Given the description of an element on the screen output the (x, y) to click on. 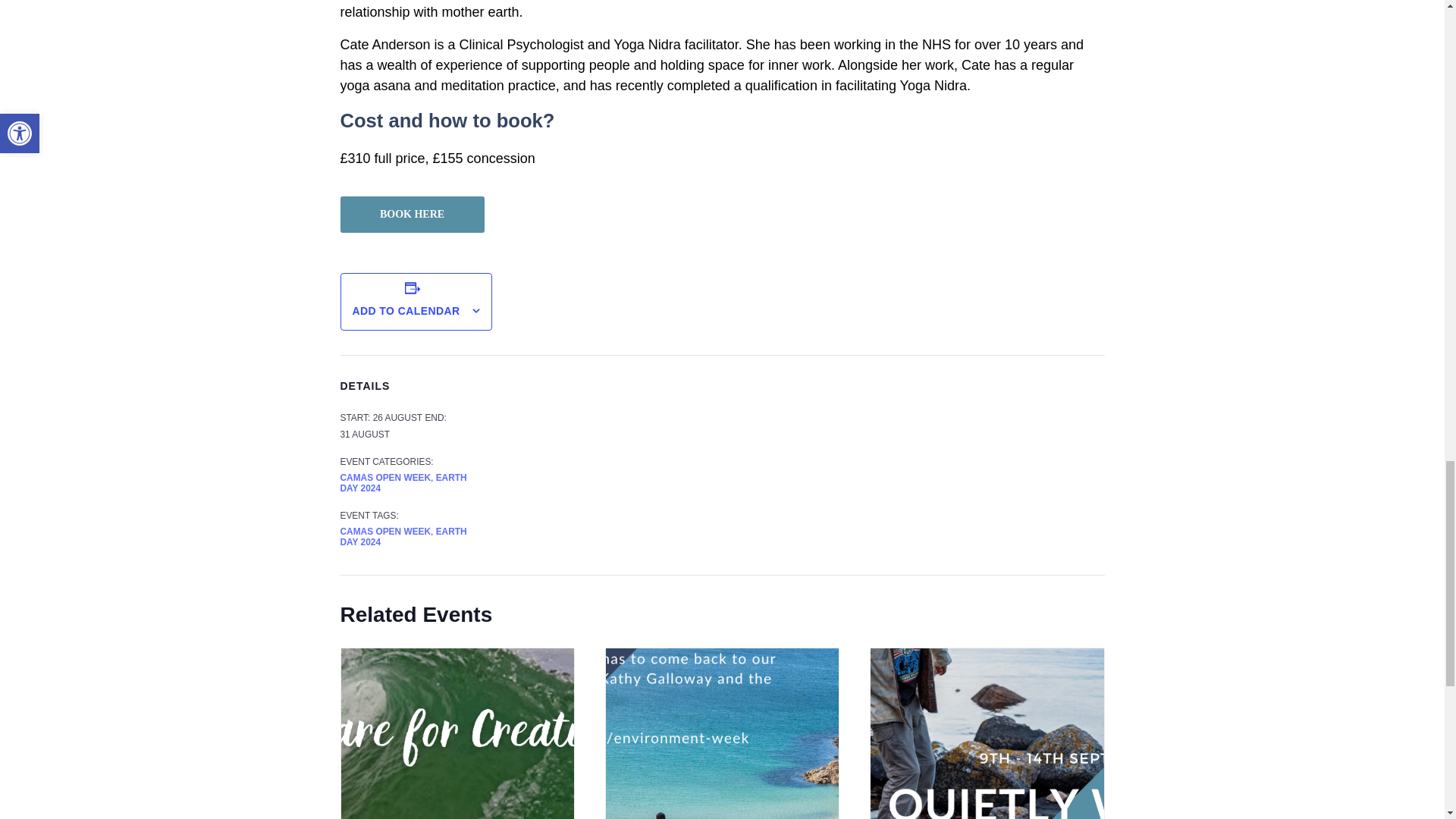
2024-08-26 (397, 417)
2024-08-31 (363, 434)
